Given the description of an element on the screen output the (x, y) to click on. 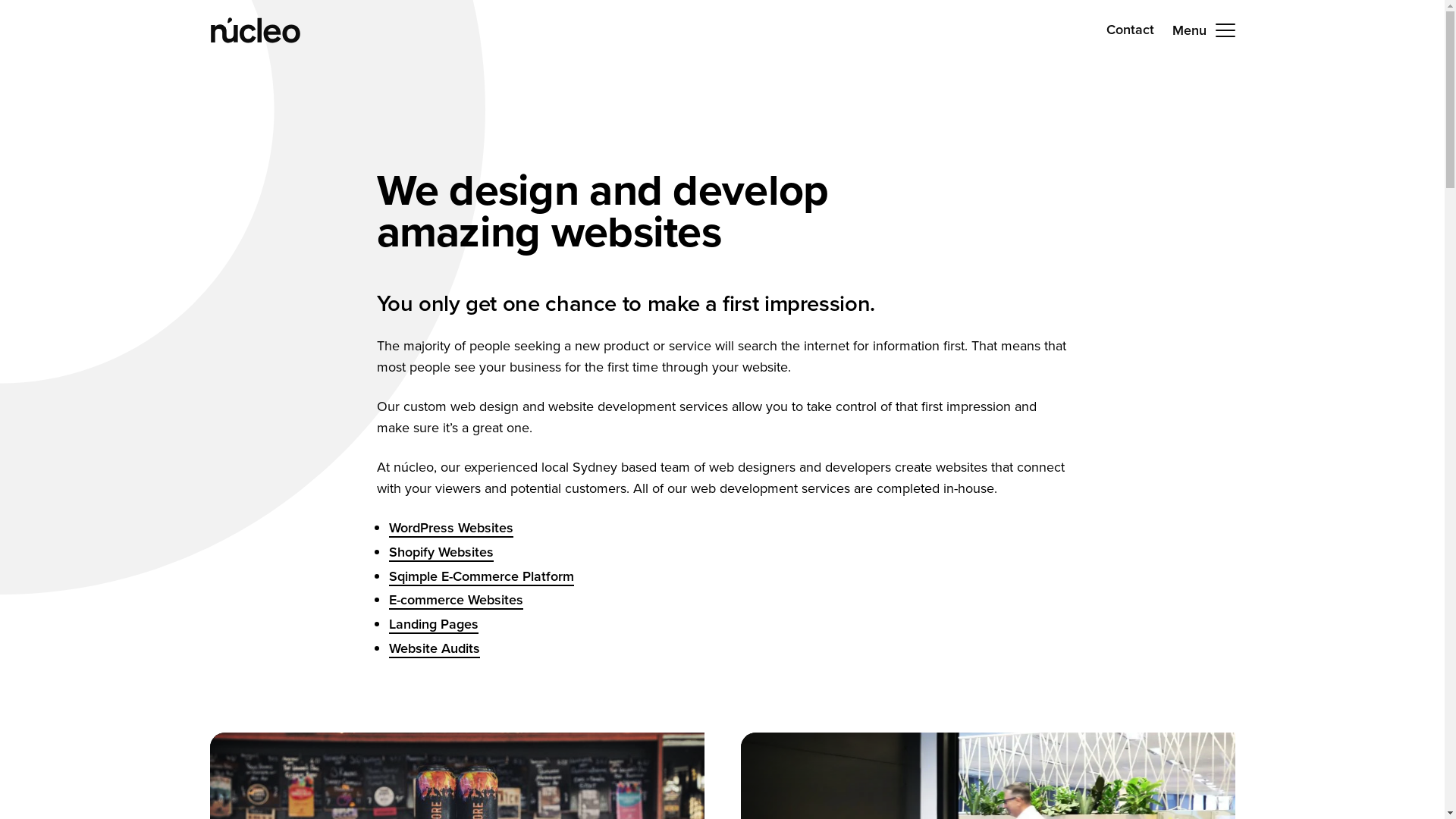
Shopify Websites Element type: text (440, 551)
Sqimple E-Commerce Platform Element type: text (480, 576)
Menu Element type: text (1203, 30)
WordPress Websites Element type: text (450, 527)
Landing Pages Element type: text (432, 623)
E-commerce Websites Element type: text (455, 599)
Contact Element type: text (1129, 29)
Website Audits Element type: text (433, 648)
